Given the description of an element on the screen output the (x, y) to click on. 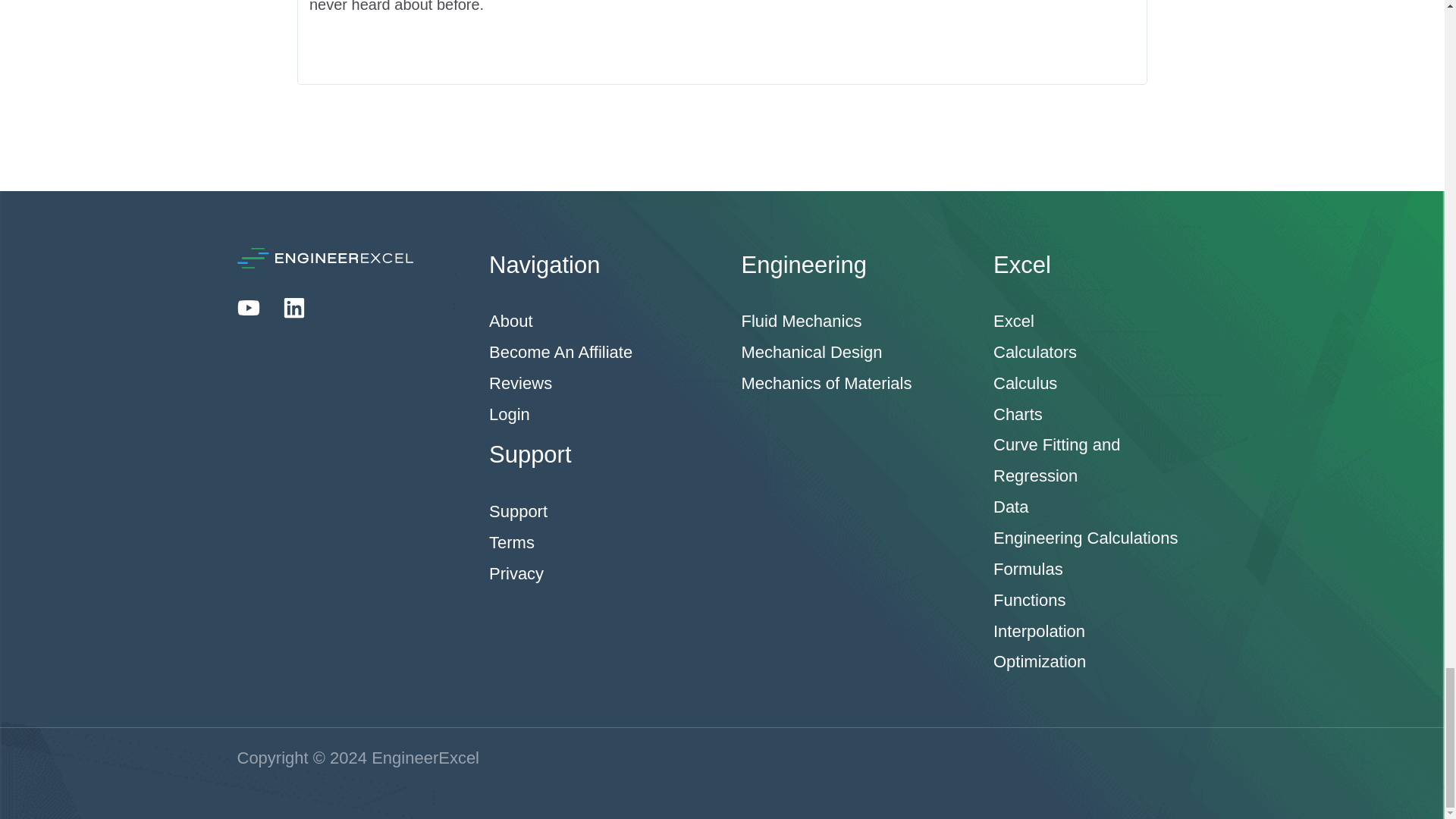
Reviews (520, 383)
Terms (511, 542)
Support (518, 511)
Privacy (516, 573)
Fluid Mechanics (801, 321)
Mechanical Design (811, 352)
About (510, 321)
Become An Affiliate (560, 352)
Login (509, 414)
